Given the description of an element on the screen output the (x, y) to click on. 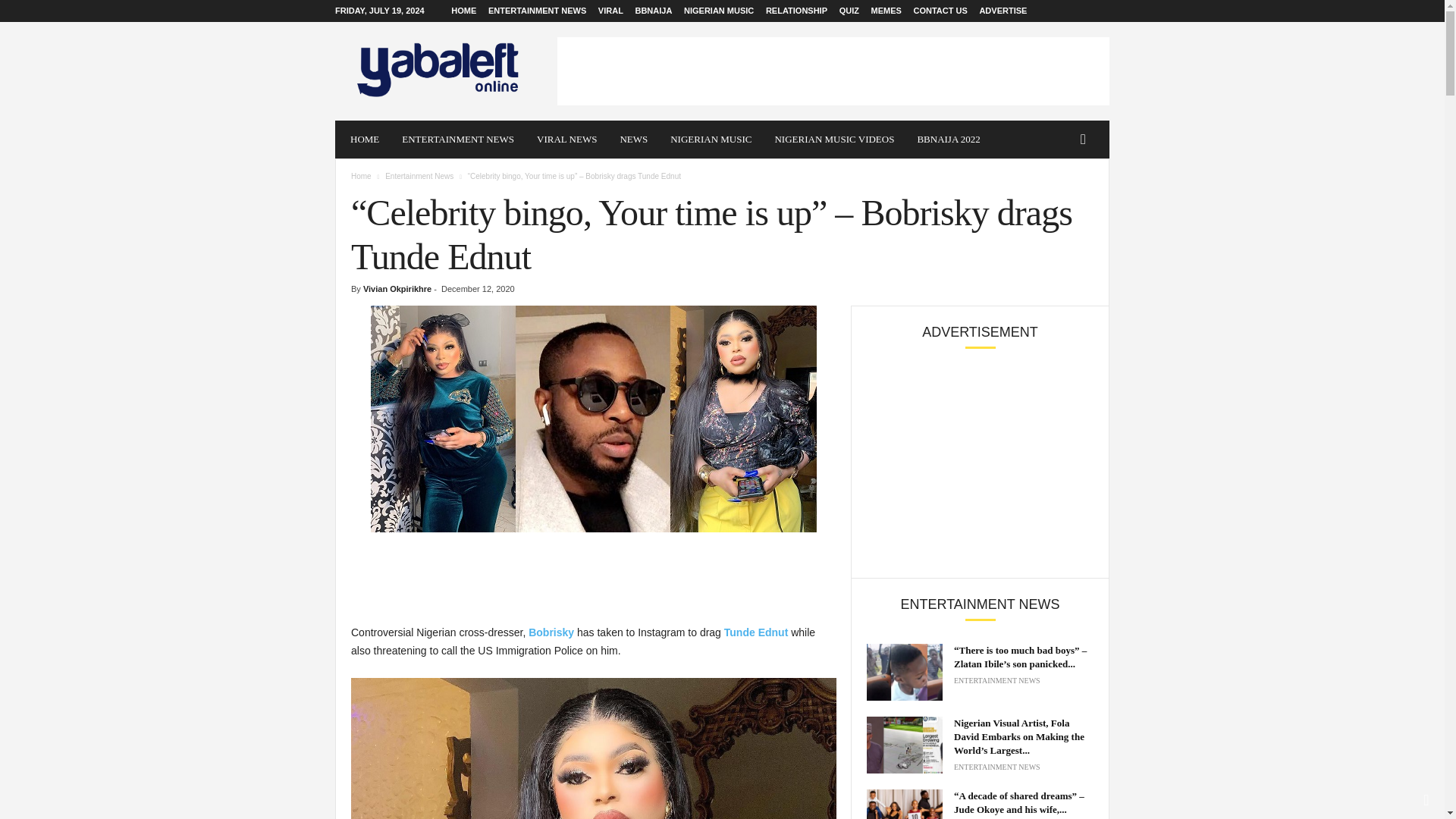
NIGERIAN MUSIC (710, 139)
Vivian Okpirikhre (396, 288)
Advertisement (833, 70)
yabaleftonline logo (437, 70)
HOME (364, 139)
Home (360, 175)
ADVERTISE (1002, 10)
HOME (463, 10)
BBNAIJA (652, 10)
Entertainment News (418, 175)
Bobrisky (549, 632)
NIGERIAN MUSIC VIDEOS (833, 139)
VIRAL (610, 10)
RELATIONSHIP (796, 10)
MEMES (885, 10)
